Given the description of an element on the screen output the (x, y) to click on. 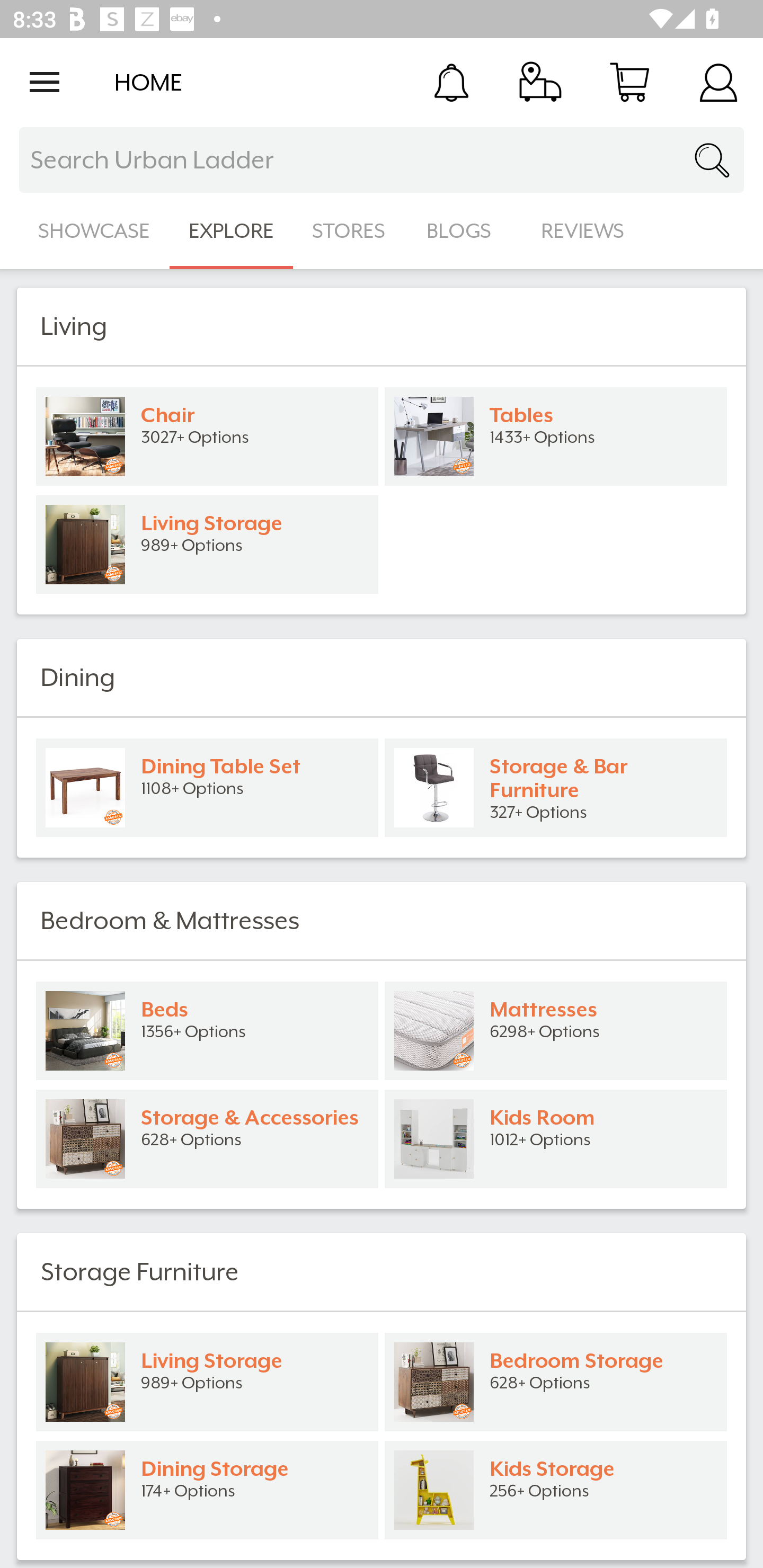
Open navigation drawer (44, 82)
Notification (450, 81)
Track Order (540, 81)
Cart (629, 81)
Account Details (718, 81)
Search Urban Ladder  (381, 159)
SHOWCASE (94, 230)
EXPLORE (230, 230)
STORES (349, 230)
BLOGS (464, 230)
REVIEWS (582, 230)
Chair 3027+ Options (206, 436)
Tables 1433+ Options (555, 436)
Living Storage 989+ Options (206, 544)
Dining Table Set 1108+ Options (206, 787)
Storage & Bar Furniture 327+ Options (555, 787)
Beds 1356+ Options (206, 1030)
Mattresses 6298+ Options (555, 1030)
Storage & Accessories 628+ Options (206, 1139)
Kids Room 1012+ Options (555, 1139)
Living Storage 989+ Options (206, 1382)
Bedroom Storage 628+ Options (555, 1382)
Dining Storage 174+ Options (206, 1490)
Kids Storage 256+ Options (555, 1490)
